Given the description of an element on the screen output the (x, y) to click on. 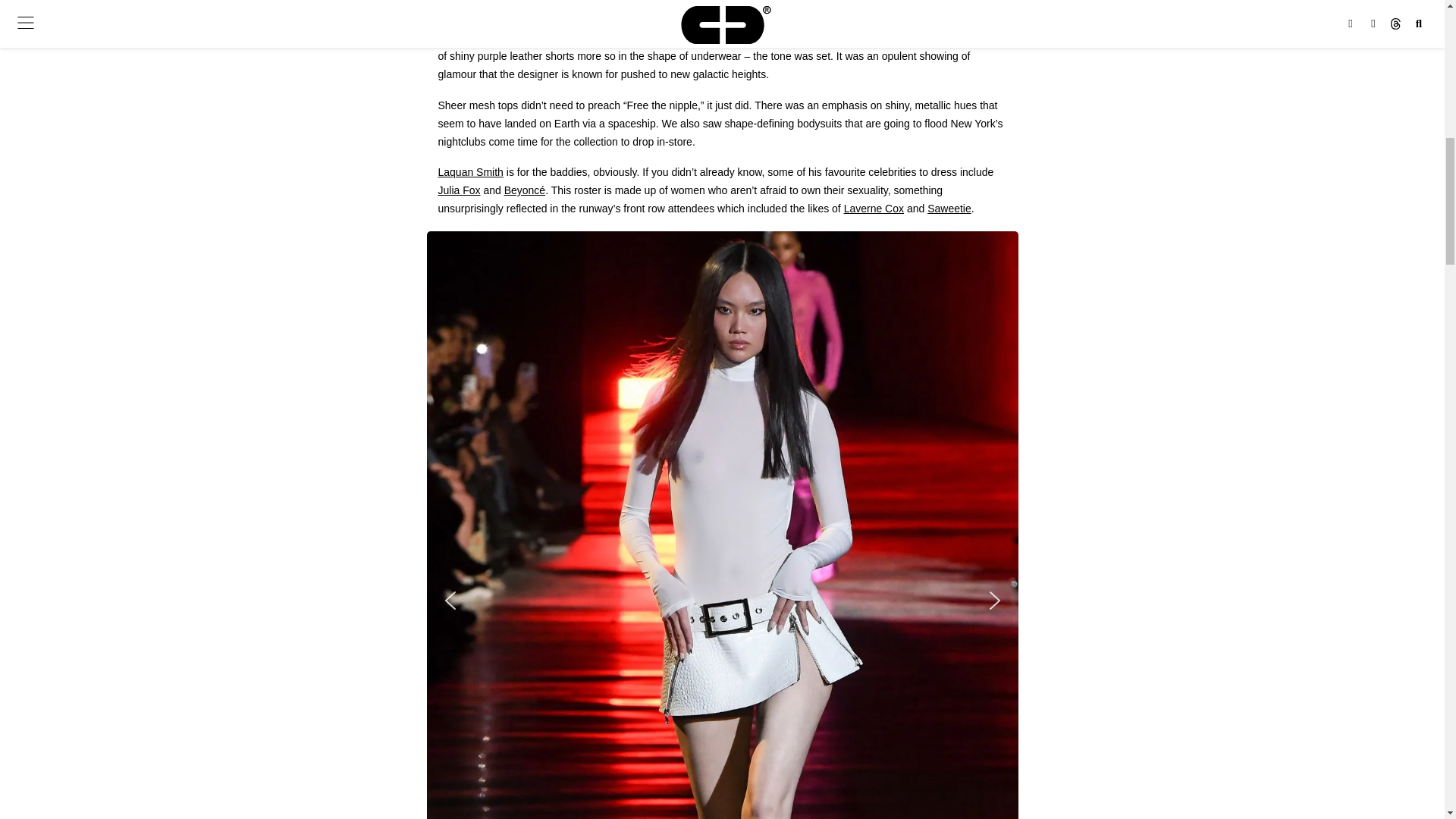
Julia Fox (459, 190)
Saweetie (949, 208)
Laquan Smith (470, 172)
Laverne Cox (874, 208)
